Given the description of an element on the screen output the (x, y) to click on. 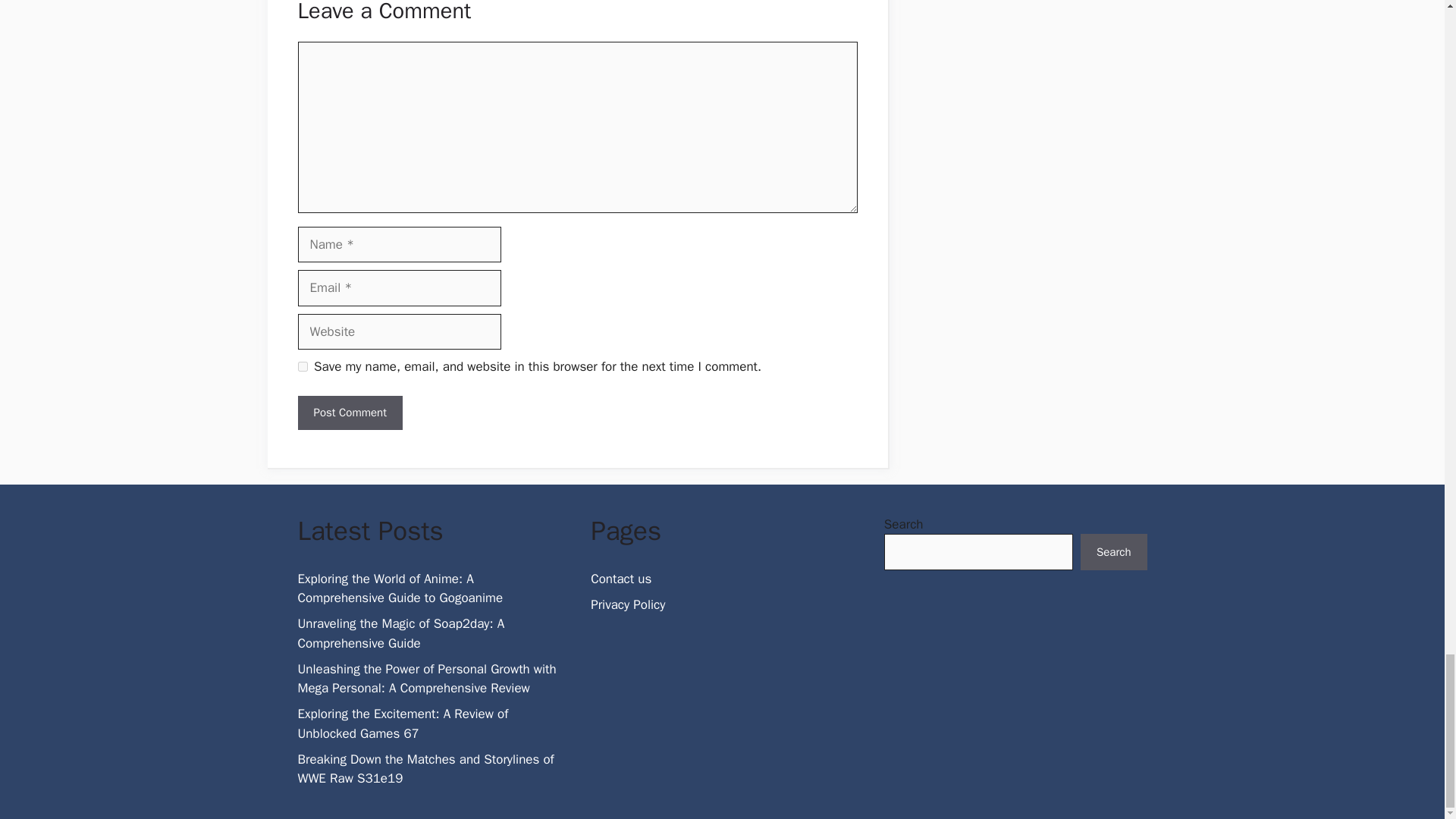
yes (302, 366)
Contact us (620, 578)
Breaking Down the Matches and Storylines of WWE Raw S31e19 (425, 769)
Search (1113, 551)
Post Comment (349, 412)
Privacy Policy (628, 604)
Unraveling the Magic of Soap2day: A Comprehensive Guide (400, 633)
Exploring the Excitement: A Review of Unblocked Games 67 (402, 723)
Post Comment (349, 412)
